Given the description of an element on the screen output the (x, y) to click on. 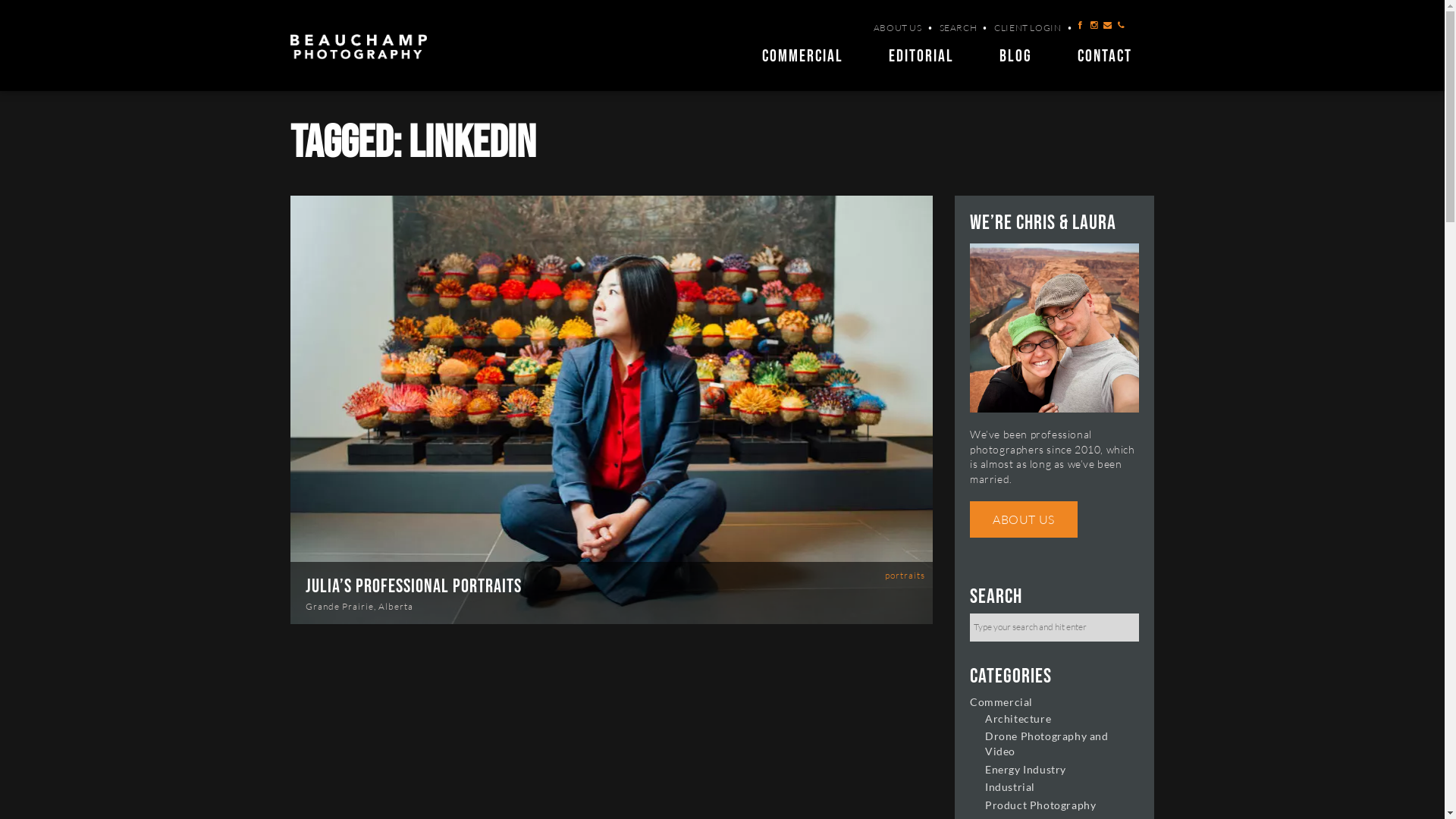
SEARCH Element type: text (958, 27)
Product Photography Element type: text (1040, 804)
portraits Element type: text (904, 574)
BLOG Element type: text (1015, 56)
Industrial Element type: text (1010, 786)
CLIENT LOGIN Element type: text (1027, 27)
Grande Prairie, Alberta Element type: text (358, 605)
Architecture Element type: text (1018, 718)
ABOUT US Element type: text (1023, 519)
ABOUT US Element type: text (897, 27)
Commercial Element type: text (1000, 701)
EDITORIAL Element type: text (921, 56)
COMMERCIAL Element type: text (801, 56)
Energy Industry Element type: text (1025, 768)
CONTACT Element type: text (1104, 56)
Drone Photography and Video Element type: text (1046, 743)
